Given the description of an element on the screen output the (x, y) to click on. 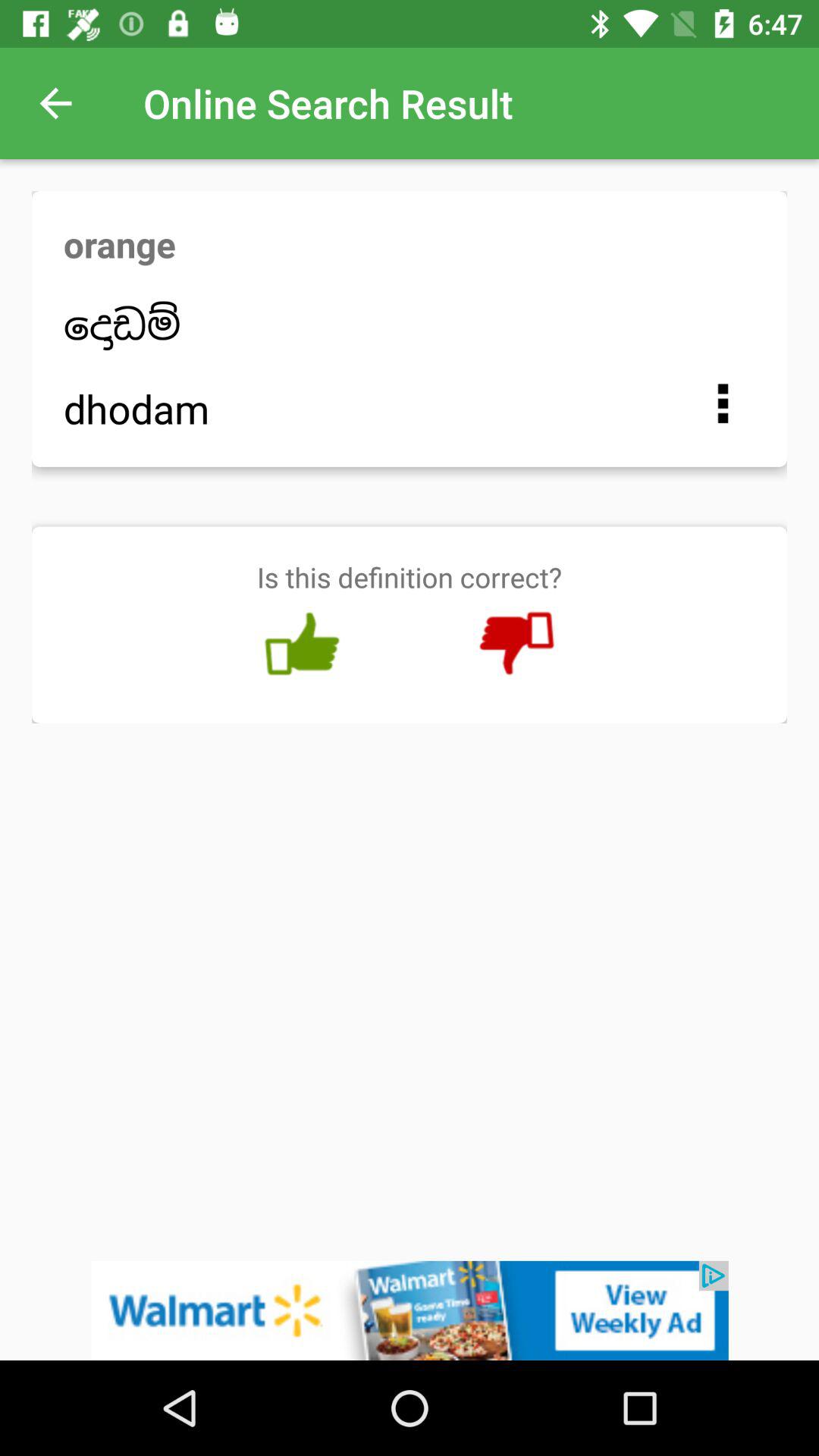
like option (301, 643)
